Given the description of an element on the screen output the (x, y) to click on. 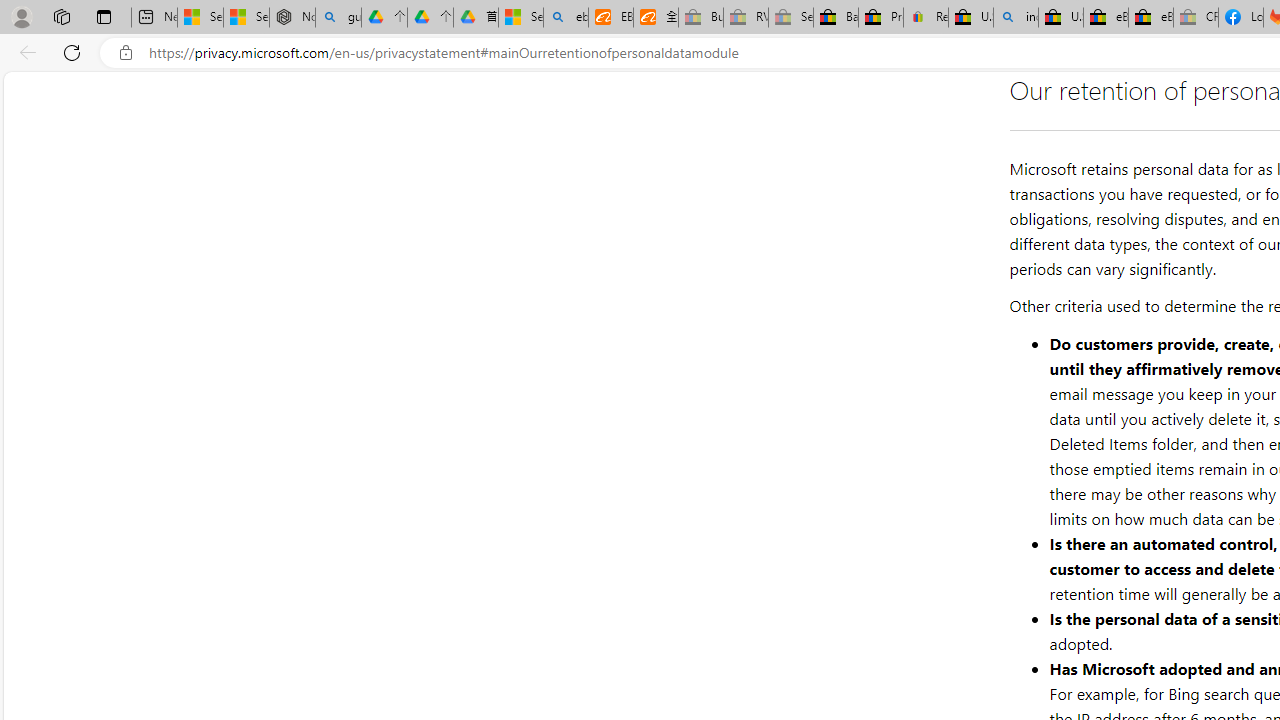
Sell worldwide with eBay - Sleeping (790, 17)
Buy Auto Parts & Accessories | eBay - Sleeping (700, 17)
Log into Facebook (1240, 17)
eBay Inc. Reports Third Quarter 2023 Results (1150, 17)
Press Room - eBay Inc. (880, 17)
